Given the description of an element on the screen output the (x, y) to click on. 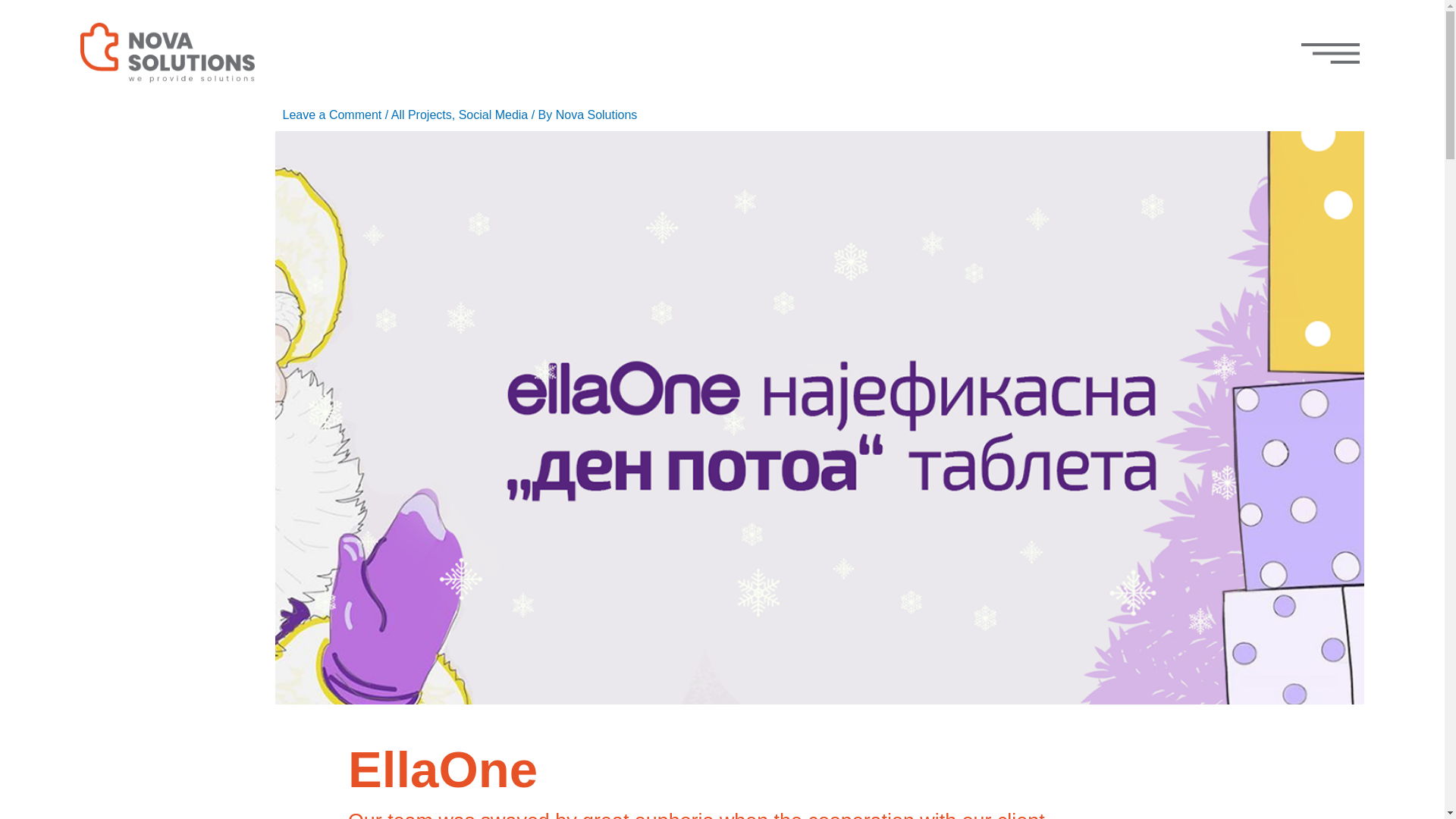
View all posts by Nova Solutions (596, 114)
All Projects (421, 114)
Social Media (493, 114)
Nova Solutions (596, 114)
Leave a Comment (331, 114)
